Given the description of an element on the screen output the (x, y) to click on. 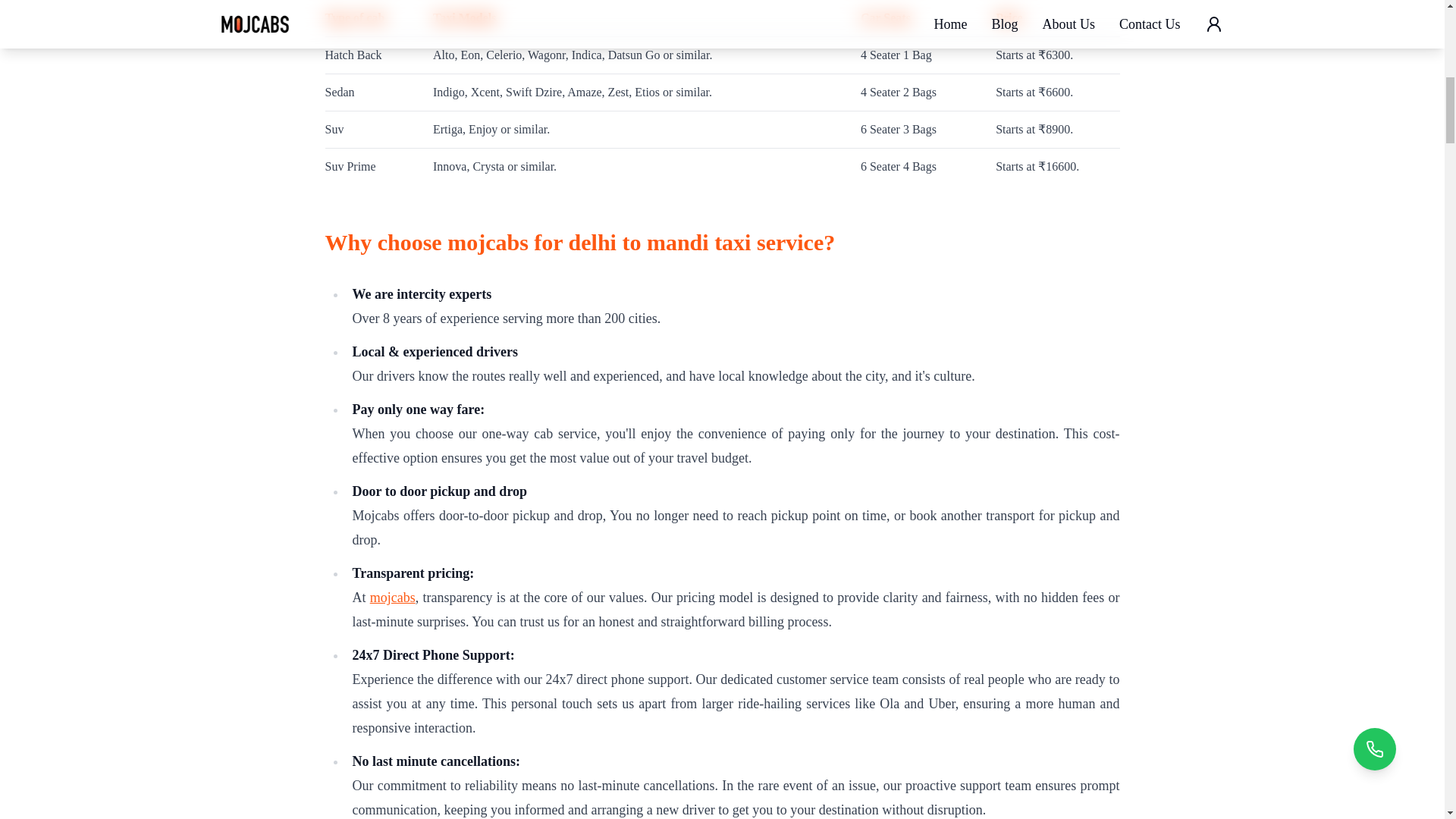
mojcabs (391, 597)
